Given the description of an element on the screen output the (x, y) to click on. 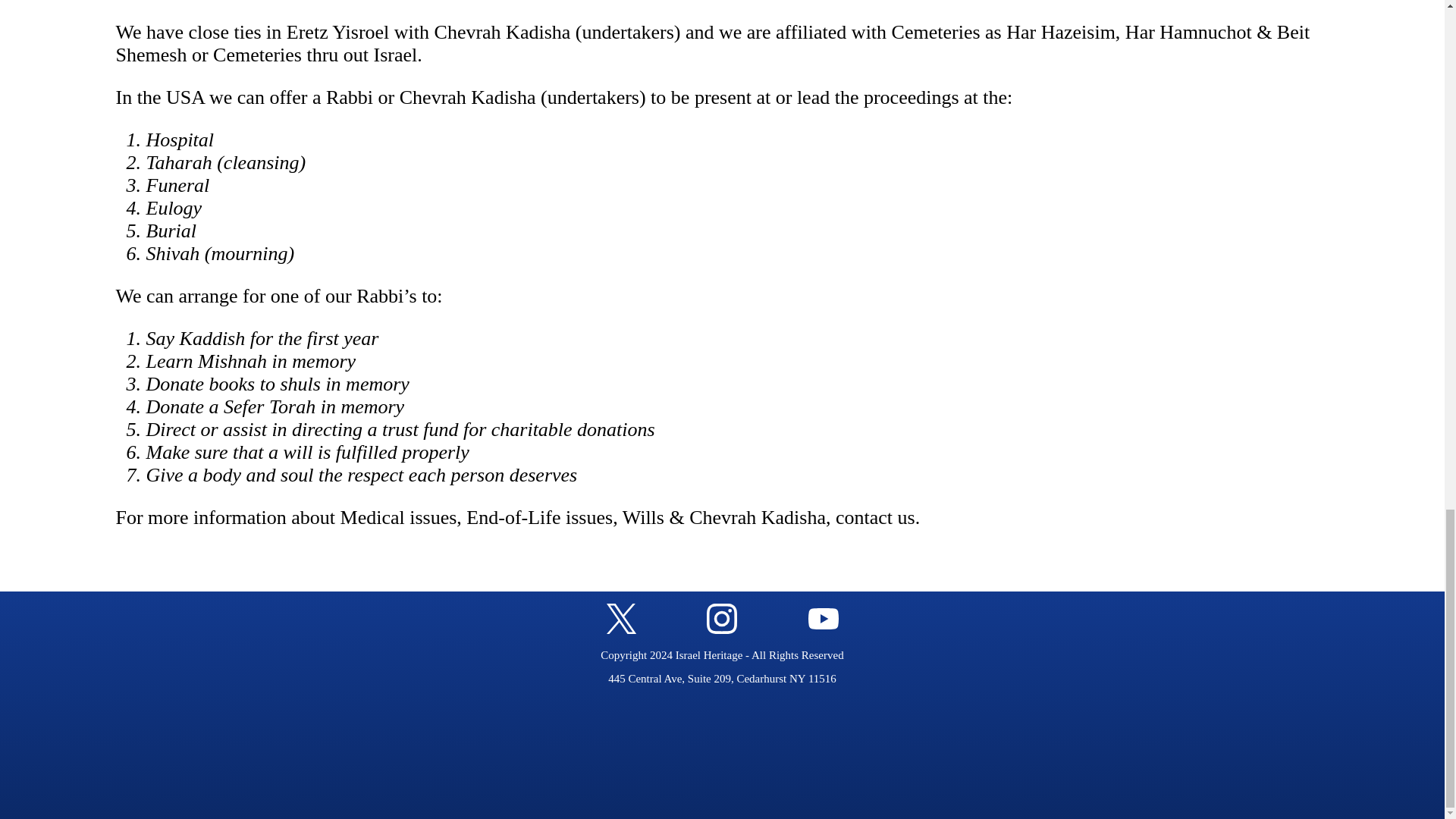
IHF Instagram (721, 629)
IHF X (621, 629)
IHF YouTube (823, 629)
